Given the description of an element on the screen output the (x, y) to click on. 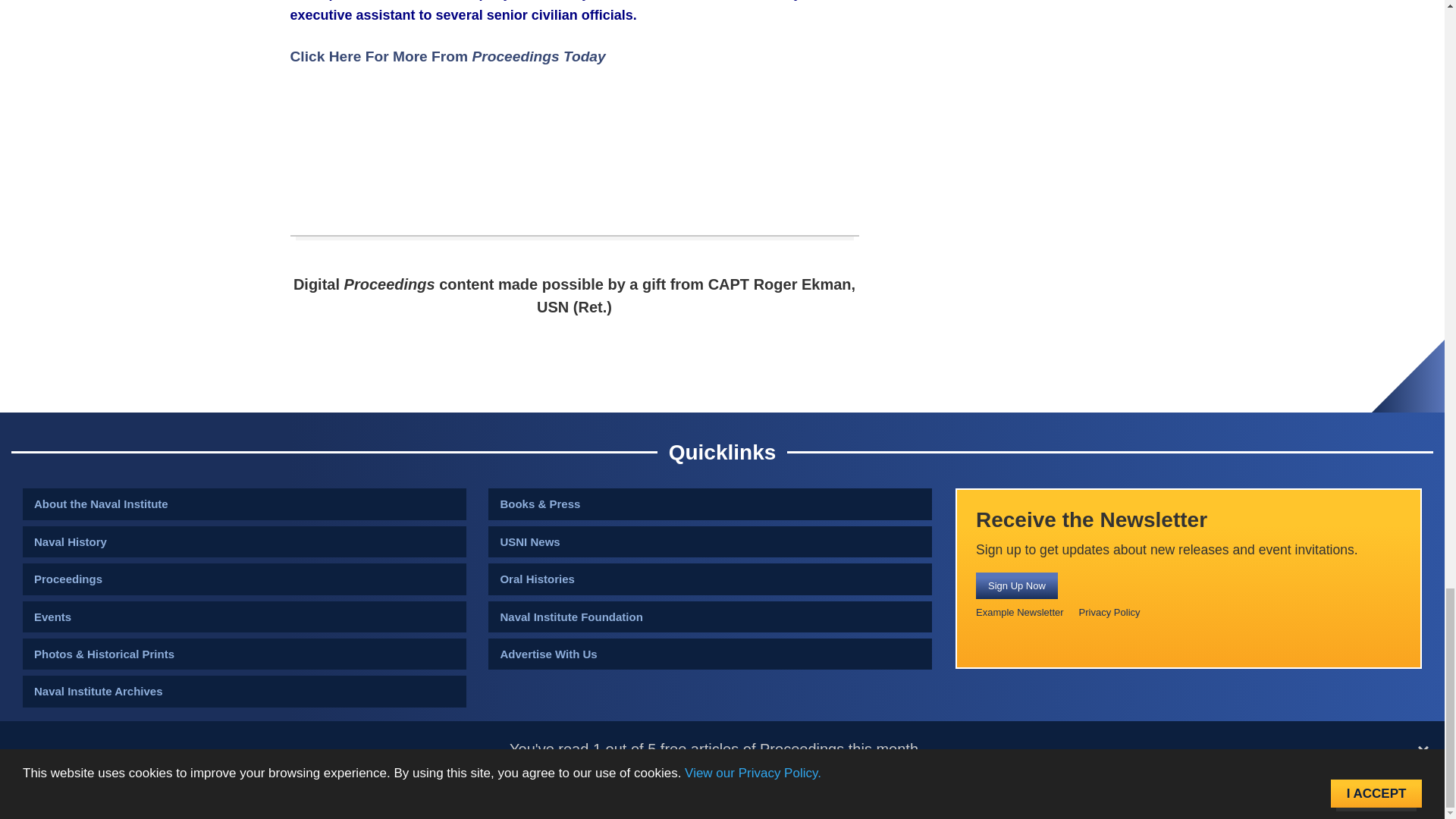
Advertise With Us (709, 653)
3rd party ad content (574, 163)
